Given the description of an element on the screen output the (x, y) to click on. 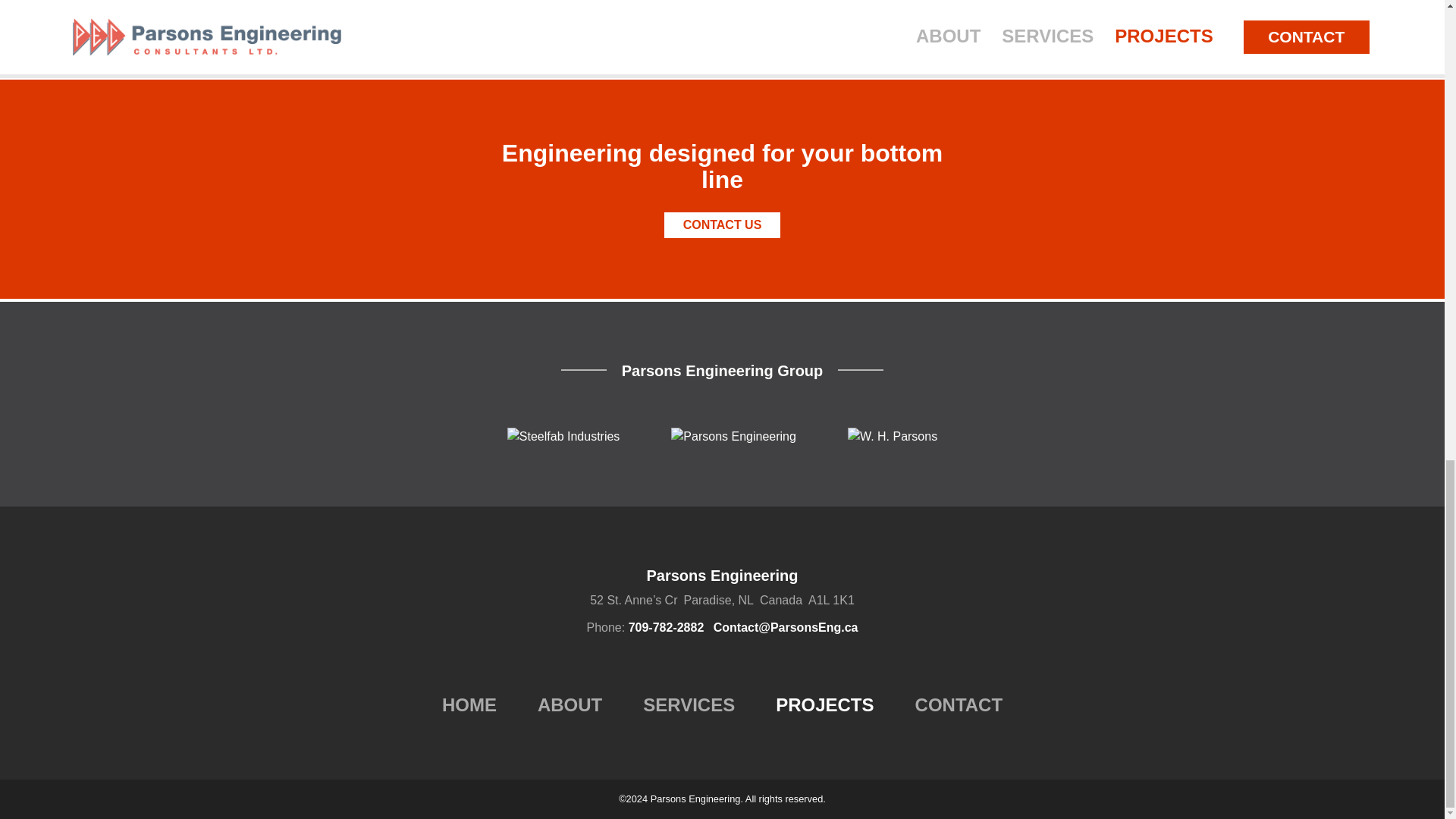
PROJECTS (824, 704)
CONTACT (959, 704)
CONTACT US (721, 225)
SERVICES (689, 704)
ABOUT (569, 704)
709-782-2882 (666, 626)
HOME (469, 704)
